Given the description of an element on the screen output the (x, y) to click on. 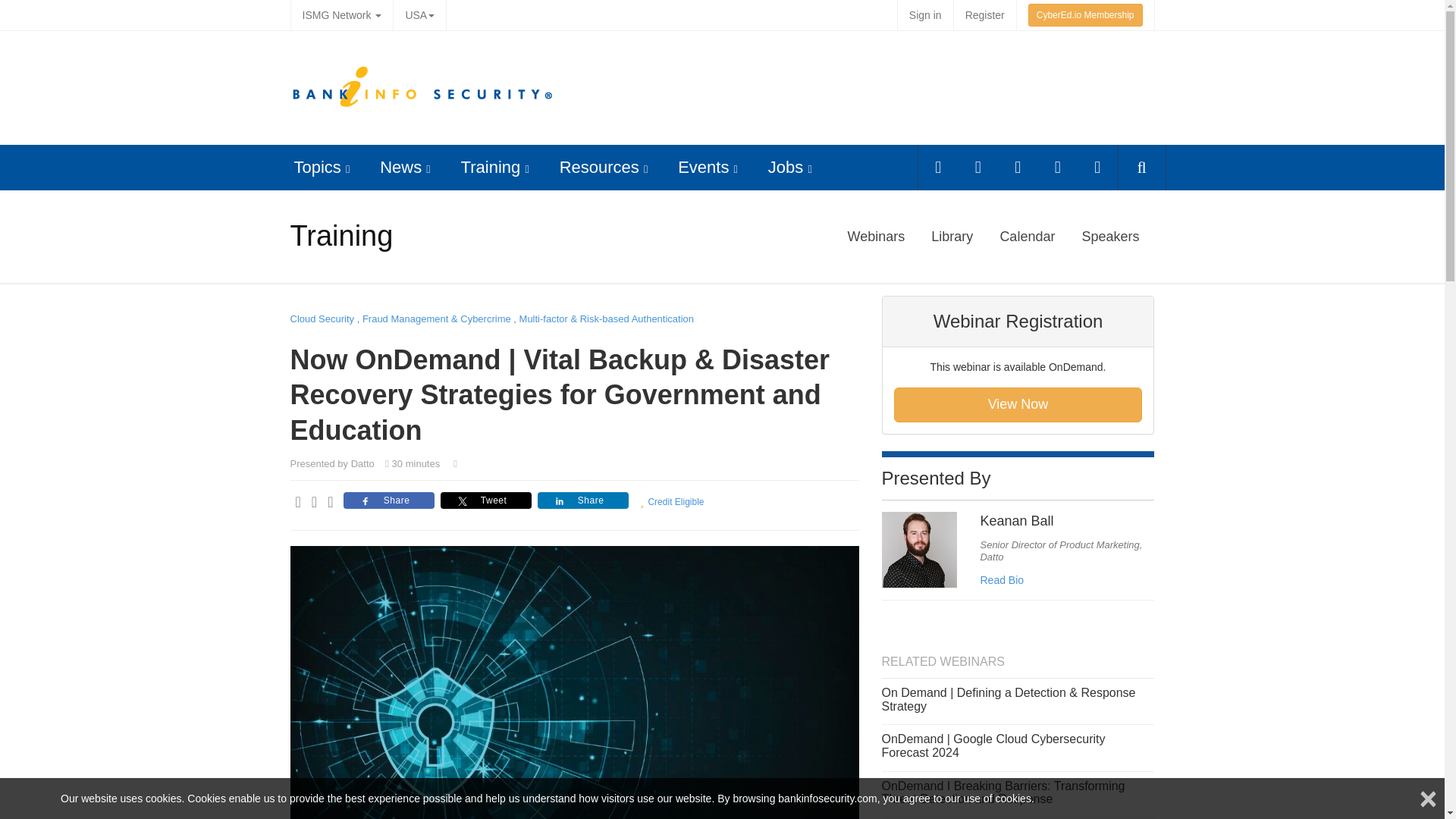
3rd party ad content (873, 88)
ISMG Network (341, 15)
USA (418, 15)
Sign in (925, 15)
Topics (317, 167)
CyberEd.io Membership (1084, 15)
Register (984, 15)
